Given the description of an element on the screen output the (x, y) to click on. 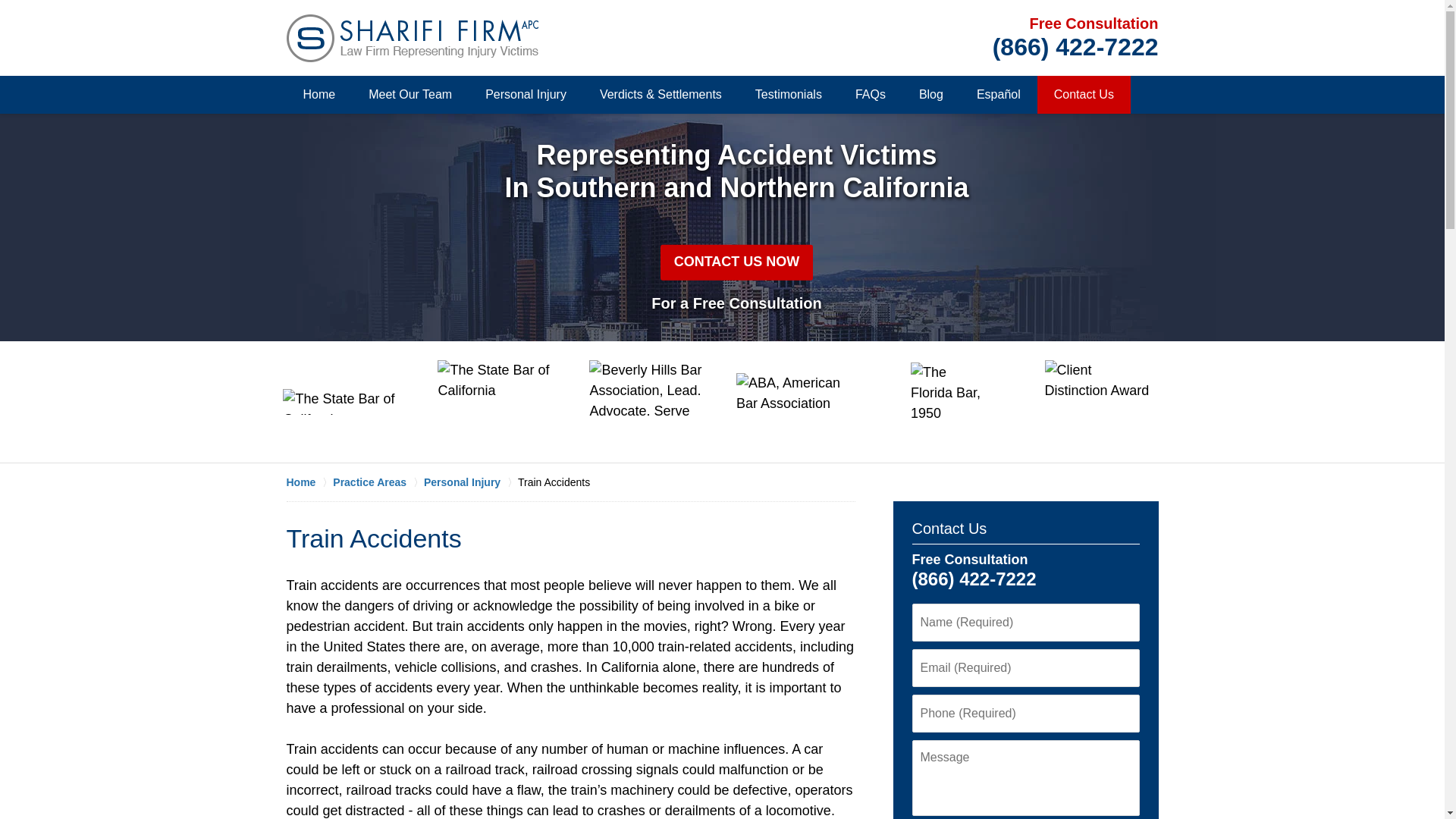
Meet Our Team (410, 94)
Blog (930, 94)
Personal Injury (525, 94)
CONTACT US NOW (737, 262)
Contact Us (949, 528)
Home (319, 94)
FAQs (870, 94)
Back to Home (412, 37)
Home (309, 482)
Sharifi Firm, APC Home (412, 37)
